Given the description of an element on the screen output the (x, y) to click on. 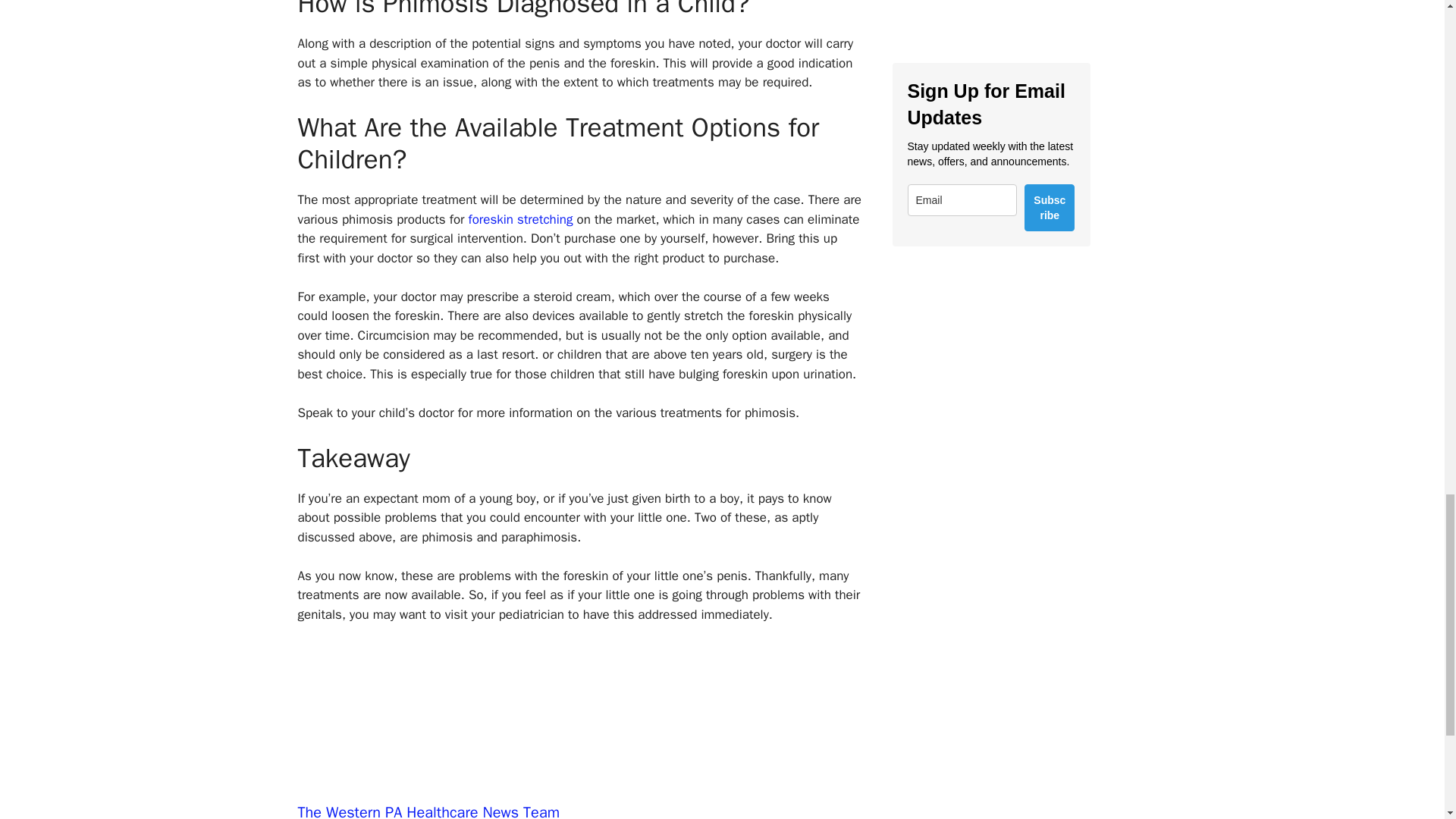
The Western PA Healthcare News Team (428, 811)
foreskin stretching (520, 219)
